Given the description of an element on the screen output the (x, y) to click on. 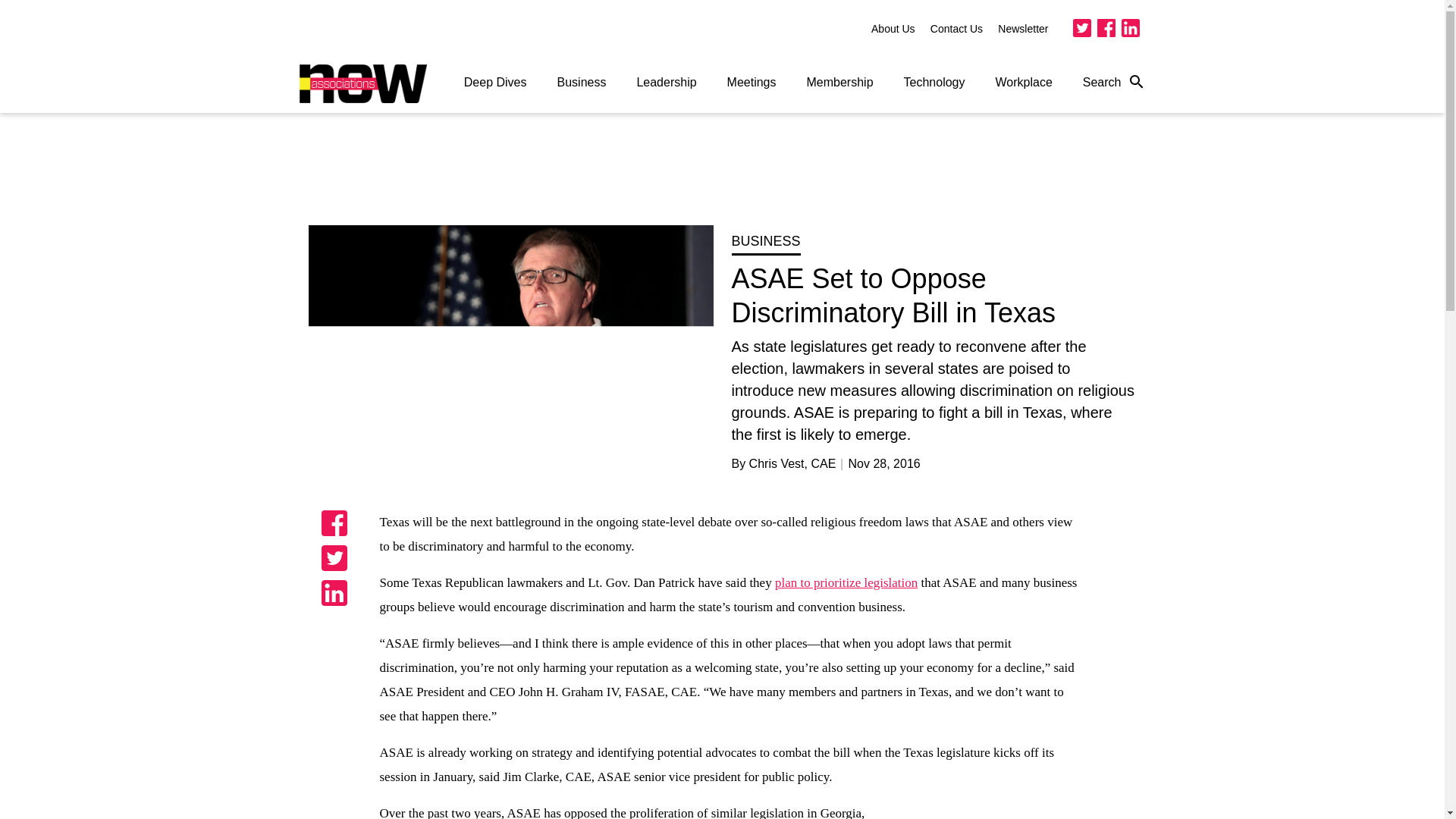
Share (334, 592)
Share (334, 523)
Visit us onFacebook (1105, 27)
Leadership (666, 82)
Facebook (1105, 27)
Visit us onTwitter (1080, 27)
Business (581, 82)
Newsletter (1022, 28)
About Us (892, 28)
Workplace (1023, 82)
